Given the description of an element on the screen output the (x, y) to click on. 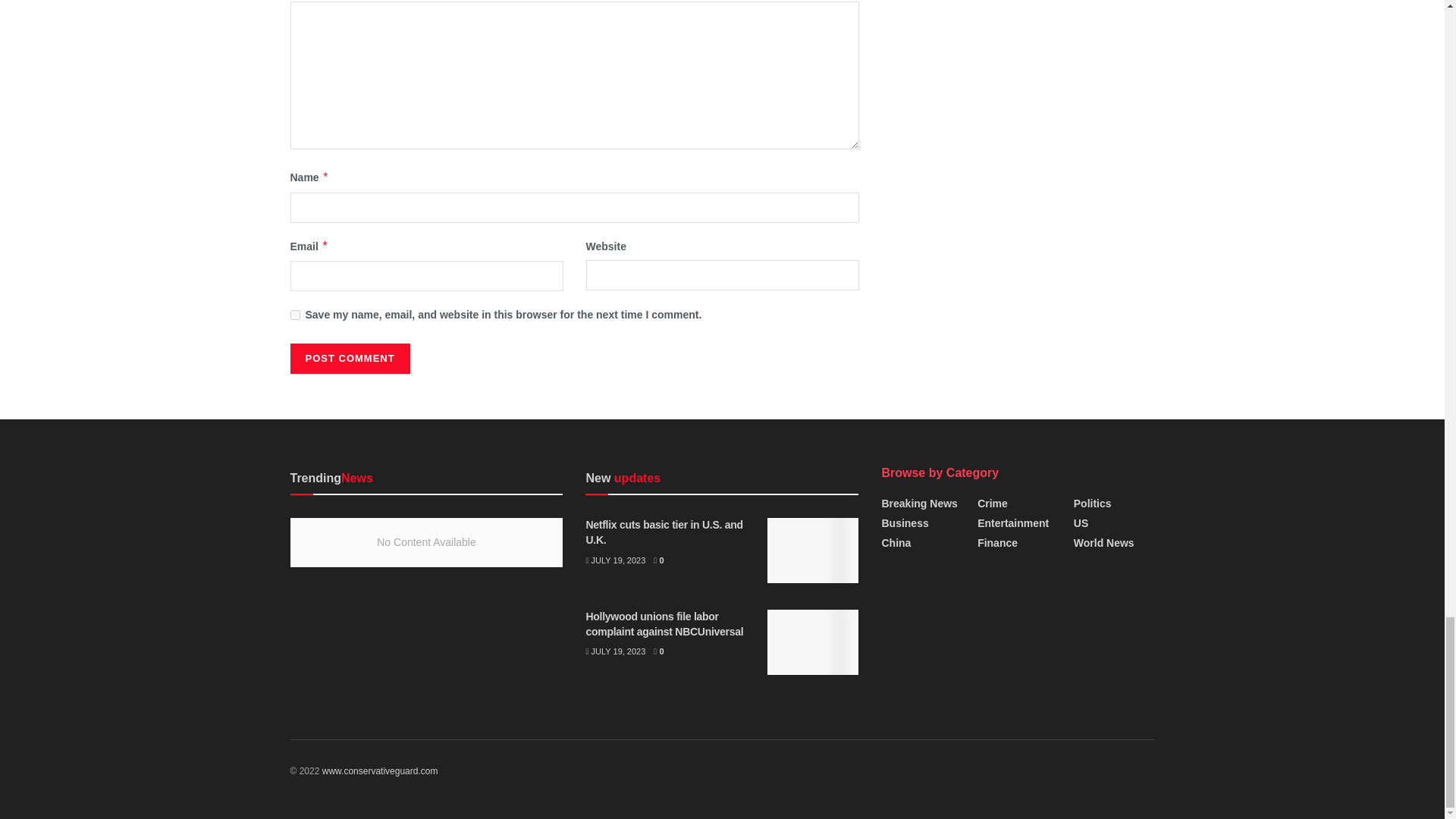
www.conservativeguard.com (379, 770)
yes (294, 315)
Post Comment (349, 358)
